Given the description of an element on the screen output the (x, y) to click on. 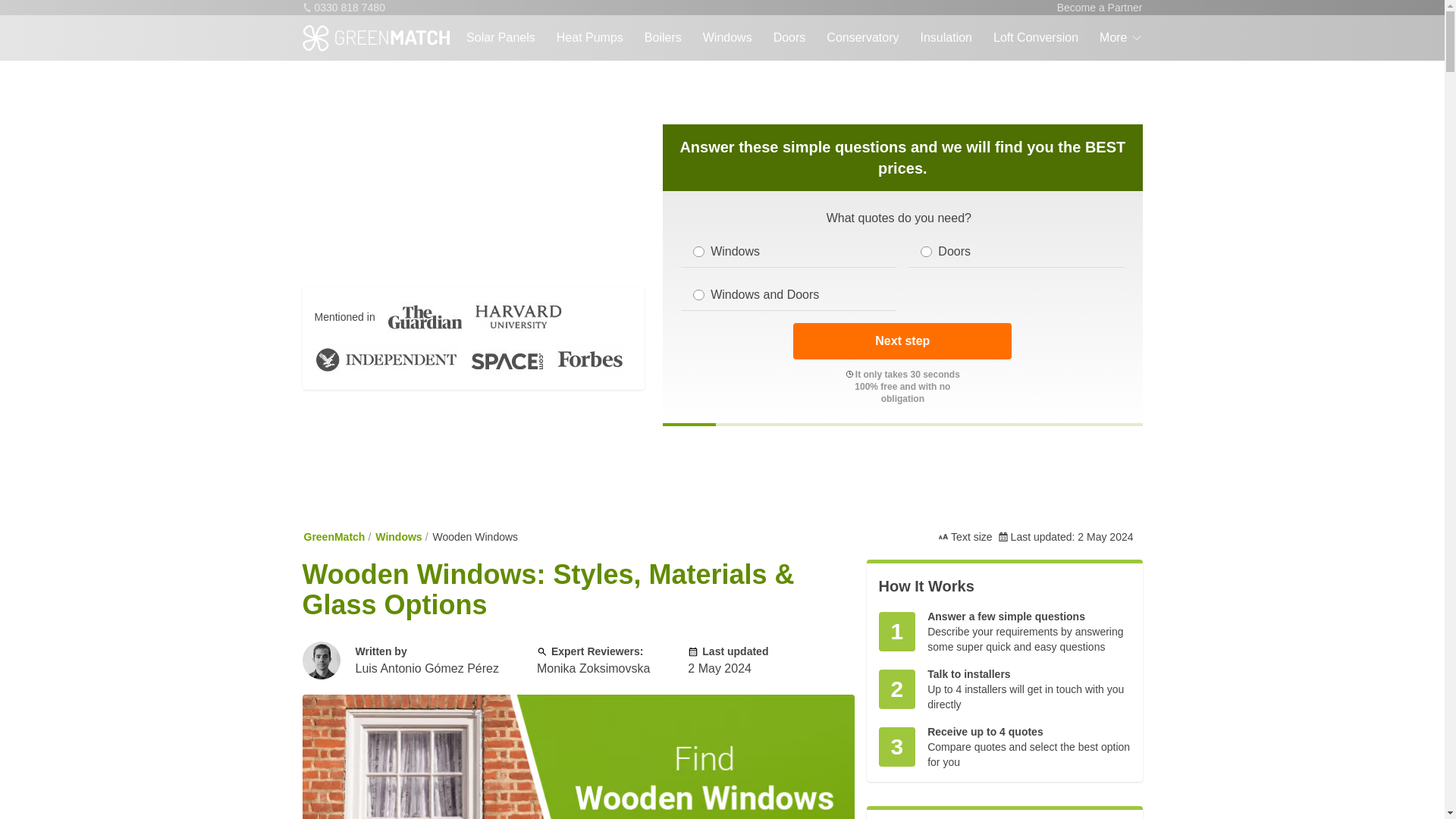
Windows (727, 37)
Boilers (663, 37)
Heat Pumps (589, 37)
0330 818 7480 (342, 7)
392 (925, 251)
Solar Panels (500, 37)
393 (698, 294)
390 (698, 251)
Windows (727, 37)
Heat Pumps (589, 37)
Boilers (663, 37)
Solar Panels (500, 37)
Become a Partner (1099, 7)
